Given the description of an element on the screen output the (x, y) to click on. 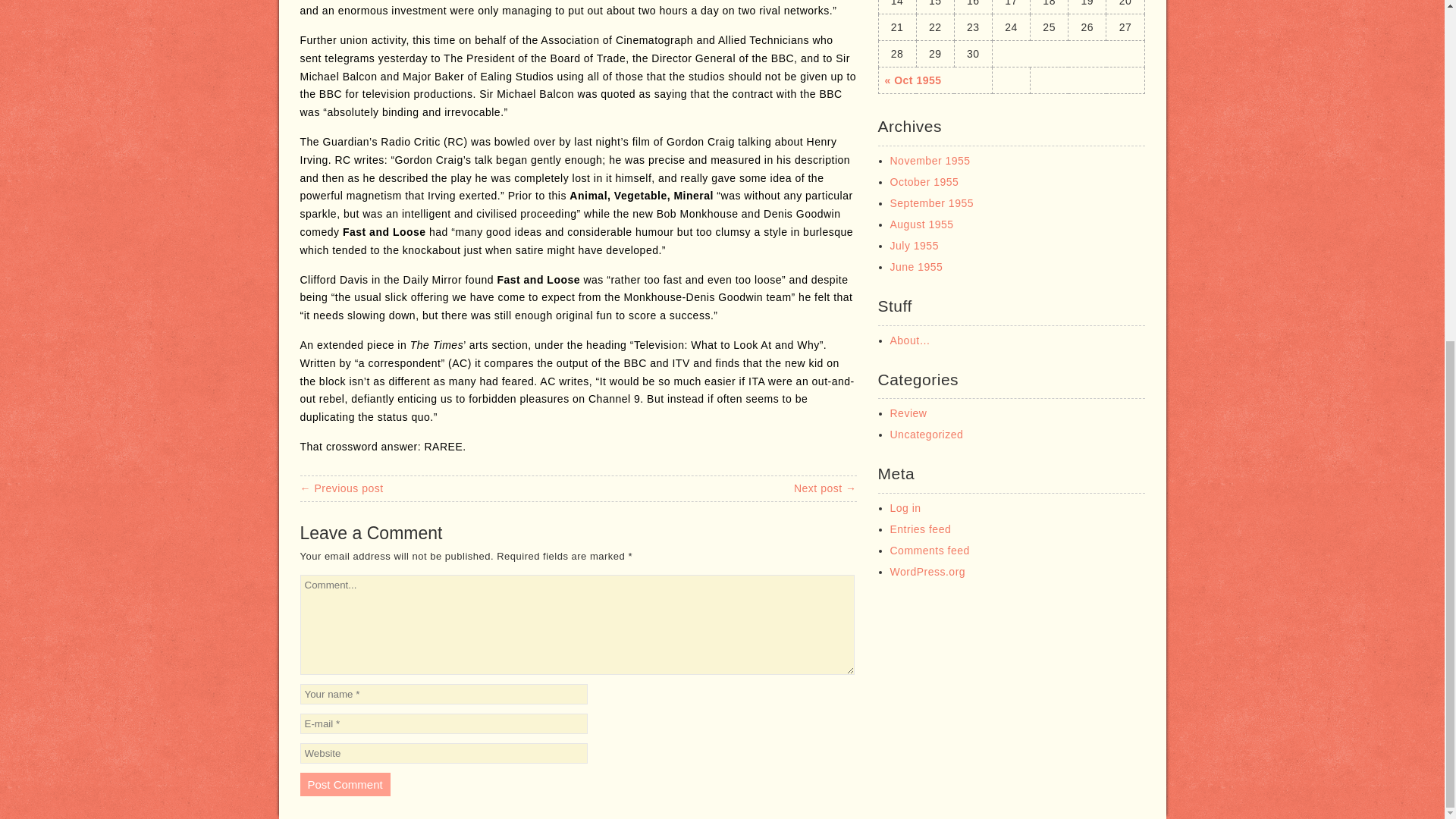
Post Comment (344, 784)
Comments feed (929, 550)
WordPress.org (927, 571)
Six Down, Five Letters (341, 488)
Post Comment (344, 784)
Review (908, 413)
October 1955 (924, 182)
August 1955 (921, 224)
Uncategorized (926, 434)
Entries feed (920, 529)
November 1955 (930, 160)
July 1955 (914, 245)
June 1955 (916, 266)
Log in (905, 508)
September 1955 (931, 203)
